Given the description of an element on the screen output the (x, y) to click on. 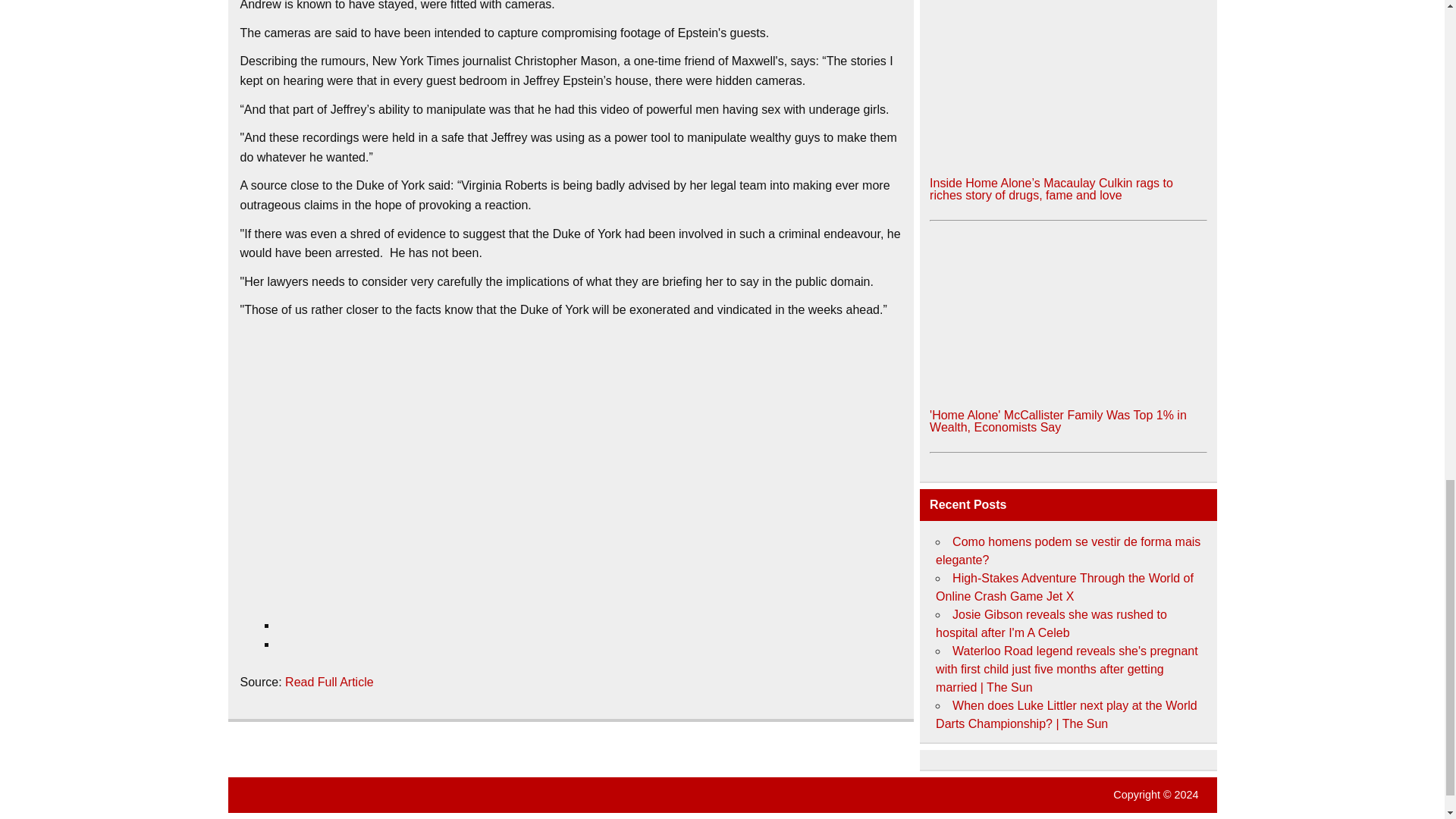
Read Full Article (329, 681)
Como homens podem se vestir de forma mais elegante? (1067, 550)
